Given the description of an element on the screen output the (x, y) to click on. 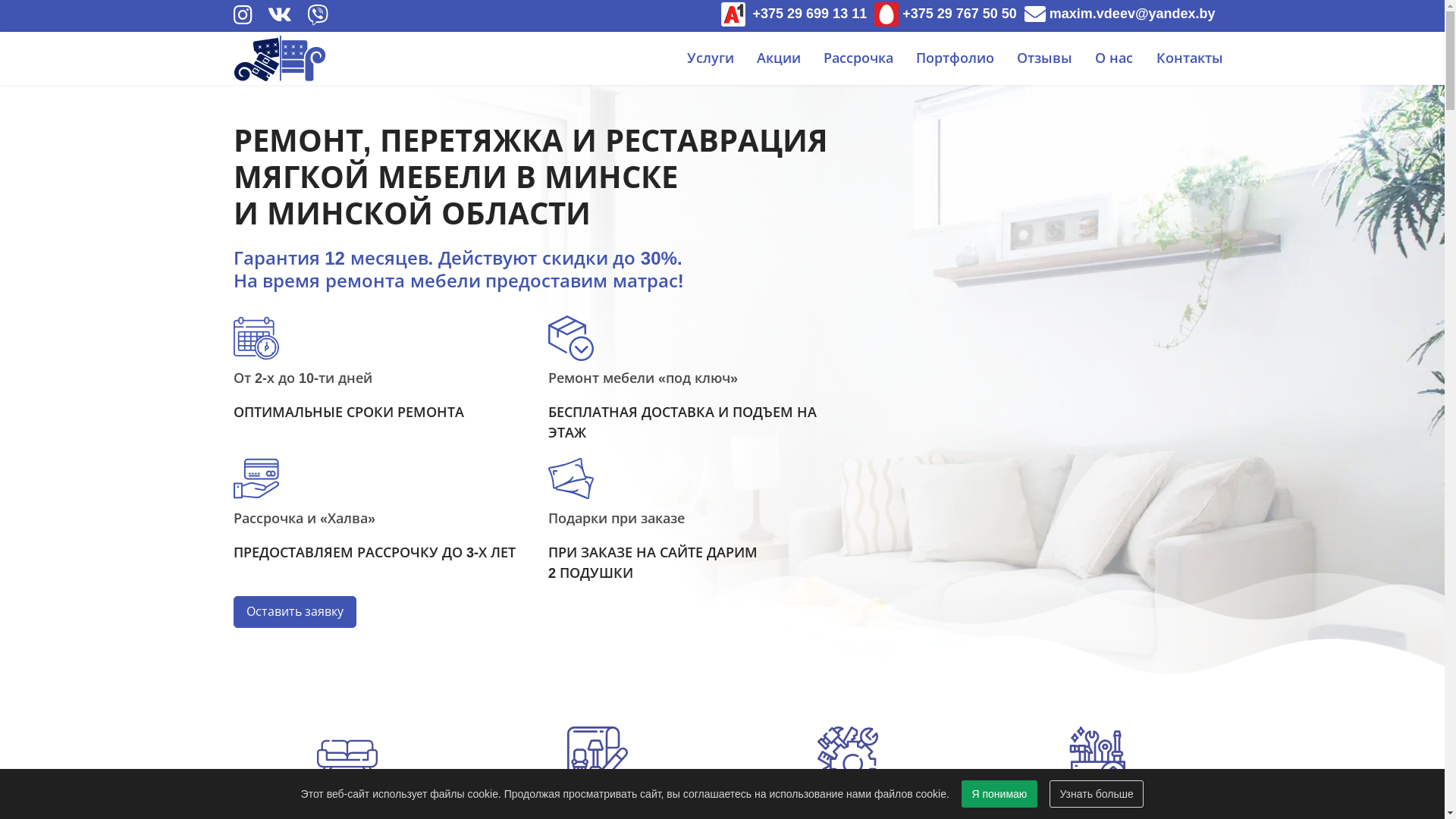
+375 29 699 13 11 Element type: text (794, 13)
+375 29 767 50 50 Element type: text (945, 13)
maxim.vdeev@yandex.by Element type: text (1119, 13)
